Given the description of an element on the screen output the (x, y) to click on. 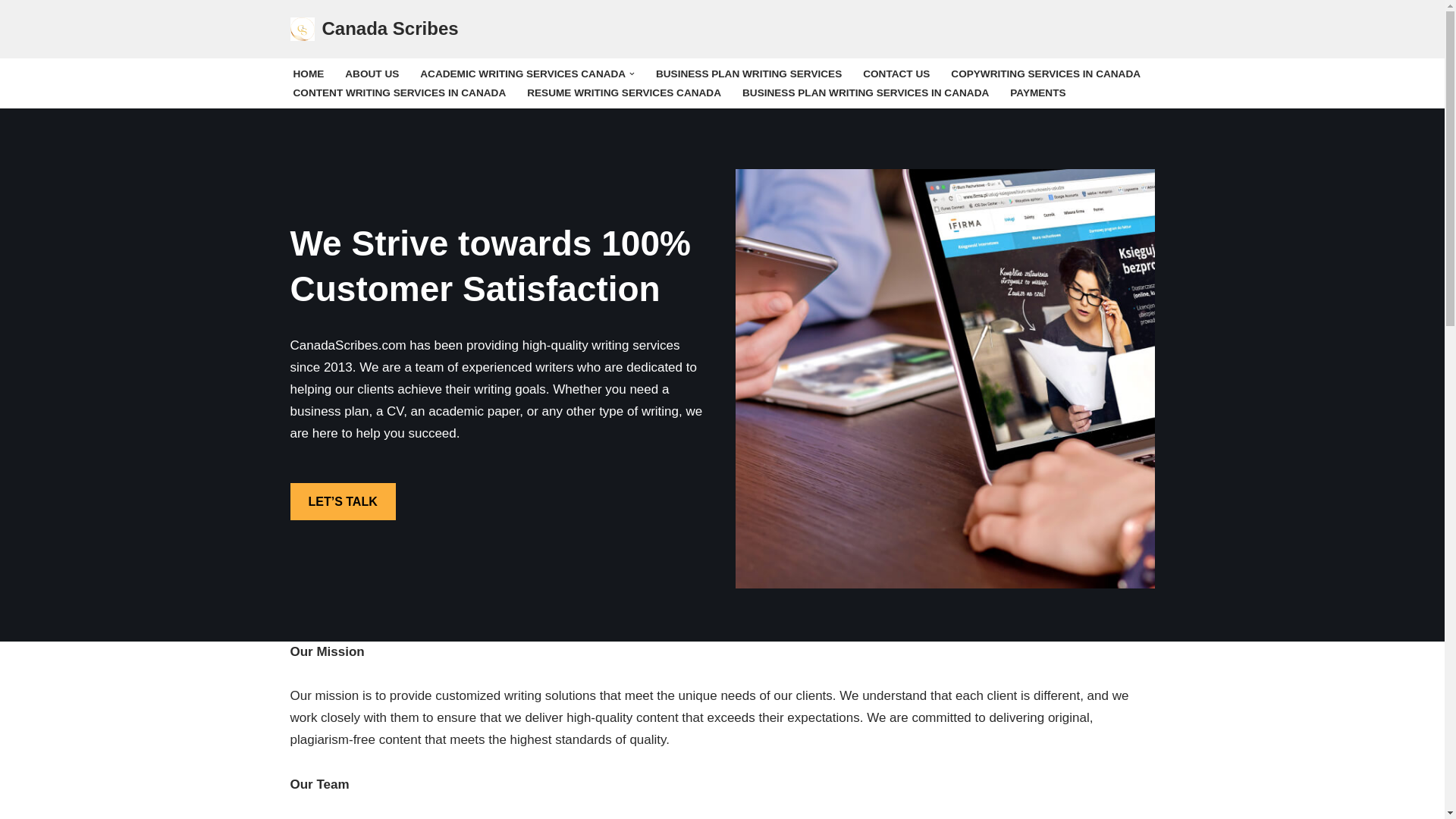
Canada Scribes (373, 29)
RESUME WRITING SERVICES CANADA (623, 92)
PAYMENTS (1037, 92)
BUSINESS PLAN WRITING SERVICES IN CANADA (865, 92)
CONTENT WRITING SERVICES IN CANADA (398, 92)
HOME (307, 73)
Canada Scribes (373, 29)
Skip to content (11, 31)
ABOUT US (371, 73)
ACADEMIC WRITING SERVICES CANADA (523, 73)
